Given the description of an element on the screen output the (x, y) to click on. 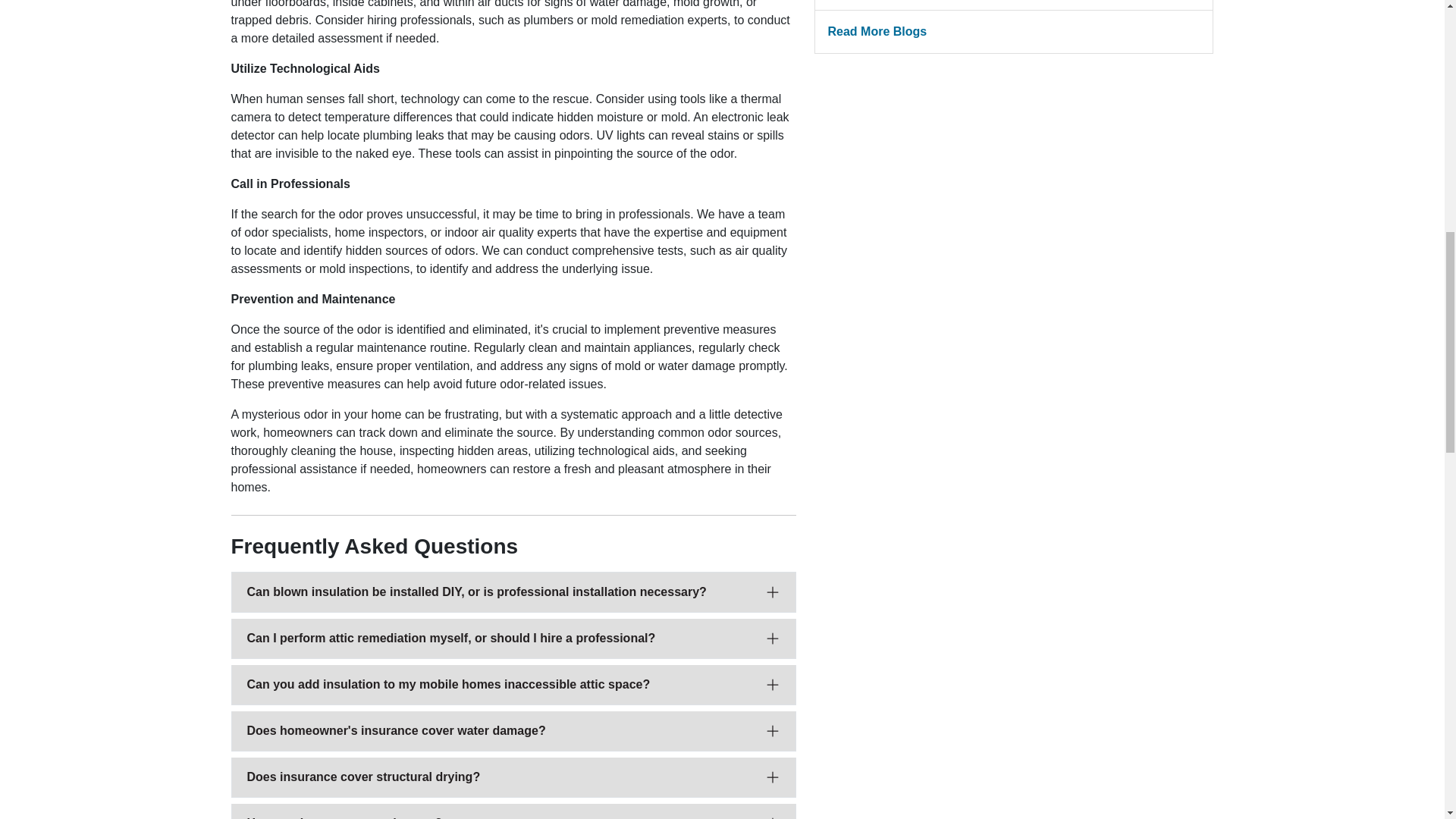
Does homeowner's insurance cover water damage? (513, 731)
Read More Blogs (1012, 31)
Does insurance cover structural drying? (513, 776)
How can I prevent water damage? (513, 811)
